Given the description of an element on the screen output the (x, y) to click on. 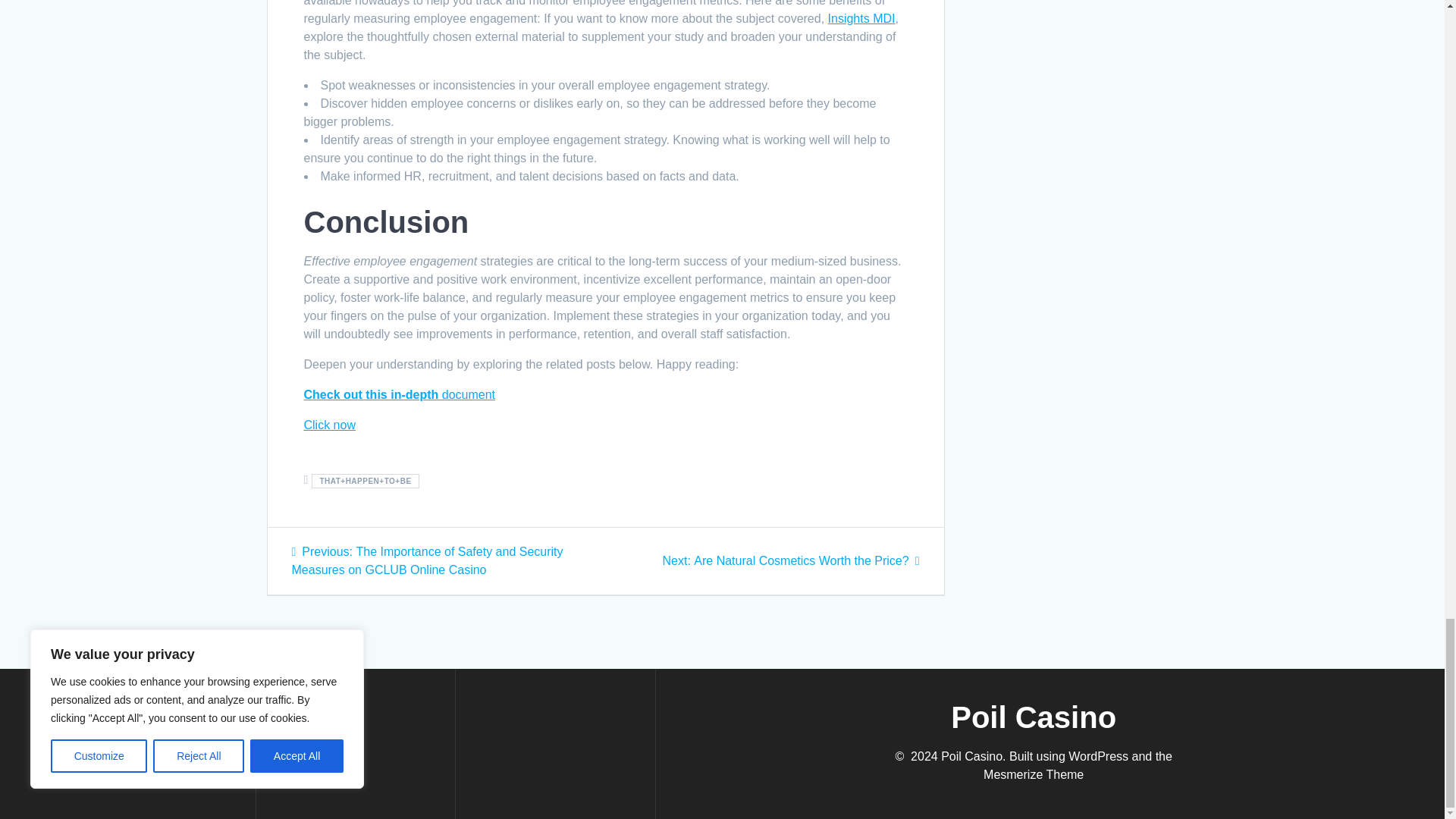
Click now (328, 424)
Check out this in-depth document (791, 560)
Insights MDI (398, 394)
